Given the description of an element on the screen output the (x, y) to click on. 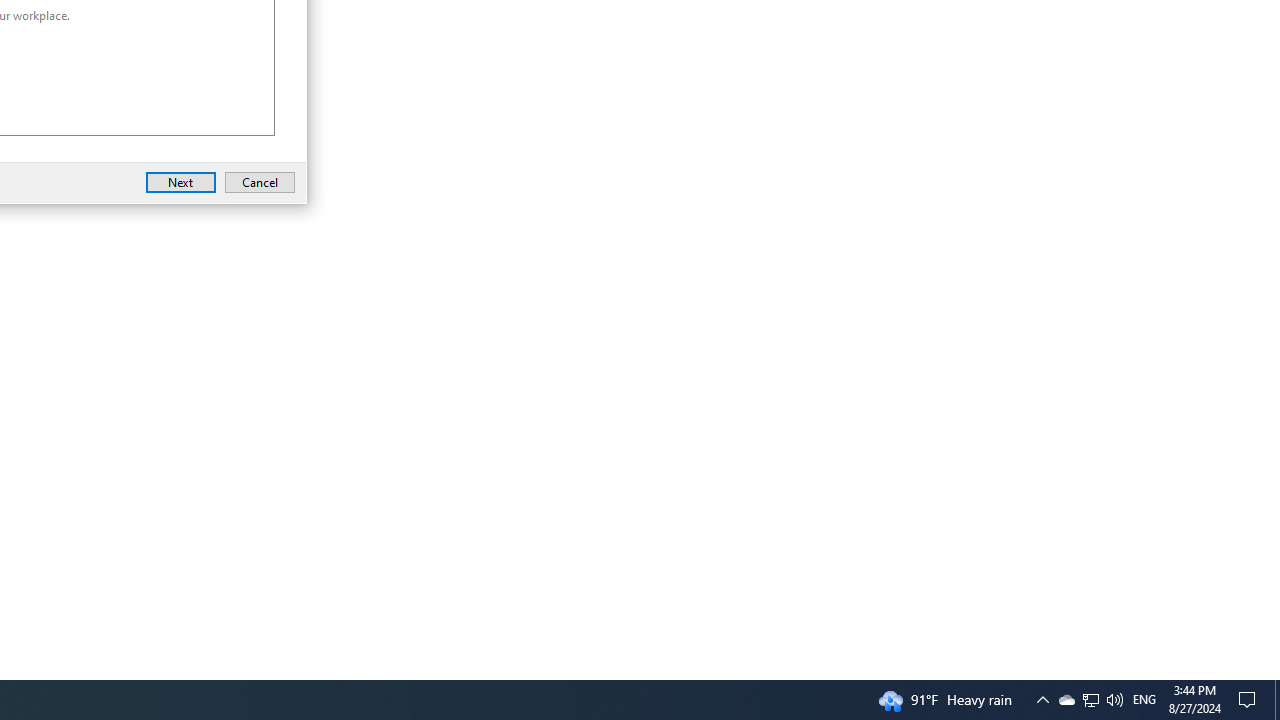
Next (180, 182)
Cancel (259, 182)
